Given the description of an element on the screen output the (x, y) to click on. 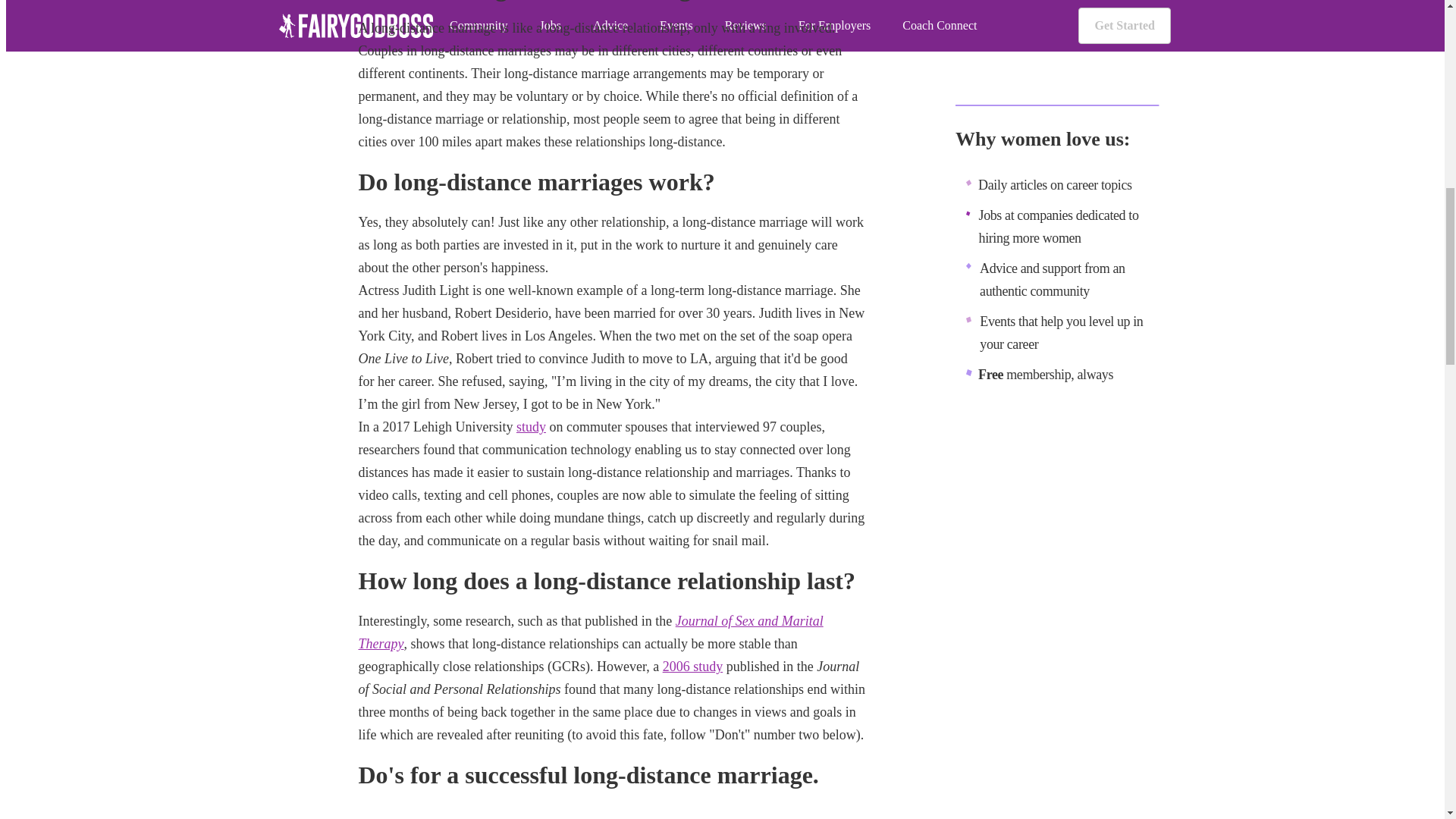
study (531, 426)
2006 study (692, 666)
Journal of Sex and Marital Therapy (590, 632)
